Given the description of an element on the screen output the (x, y) to click on. 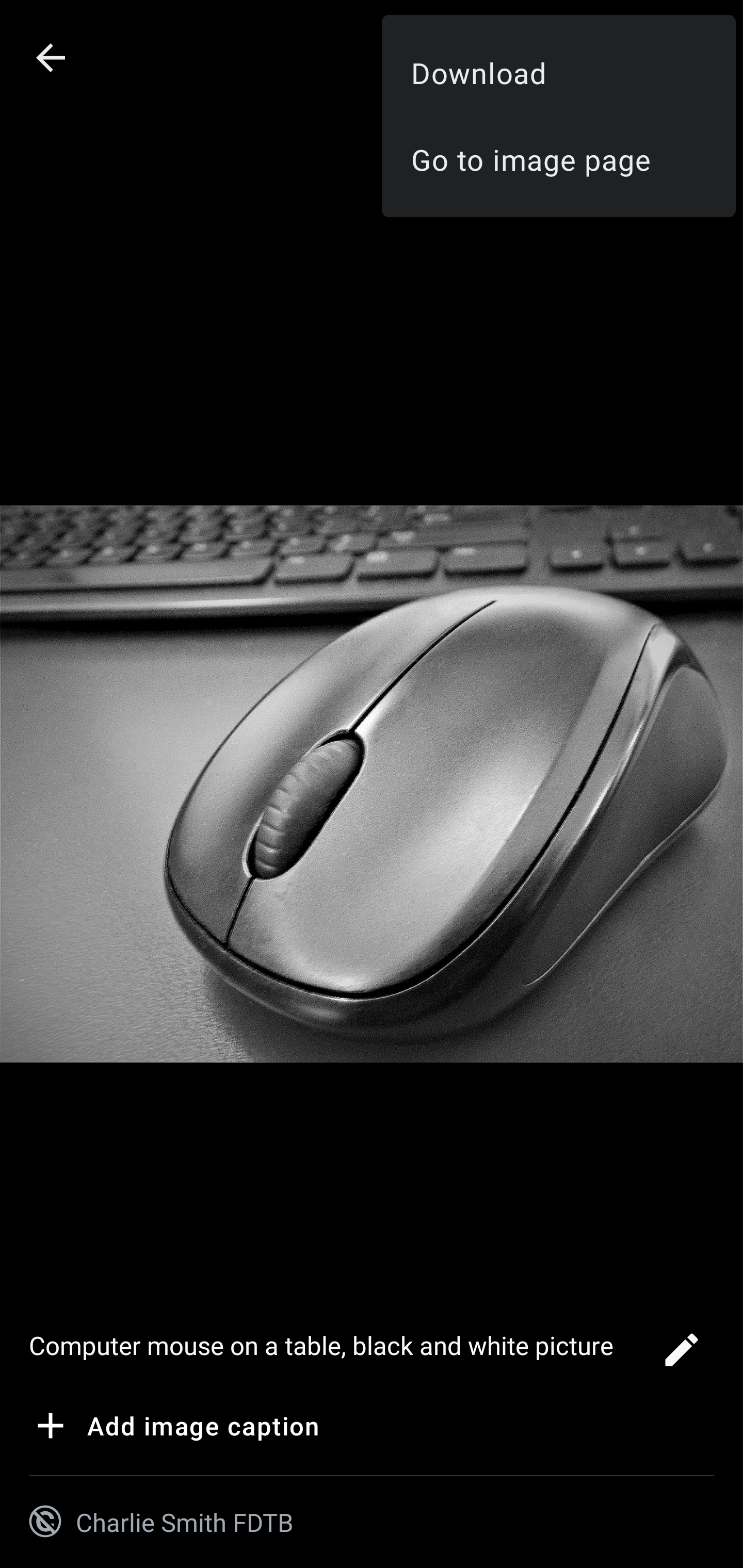
Download (558, 72)
Go to image page (558, 159)
